Given the description of an element on the screen output the (x, y) to click on. 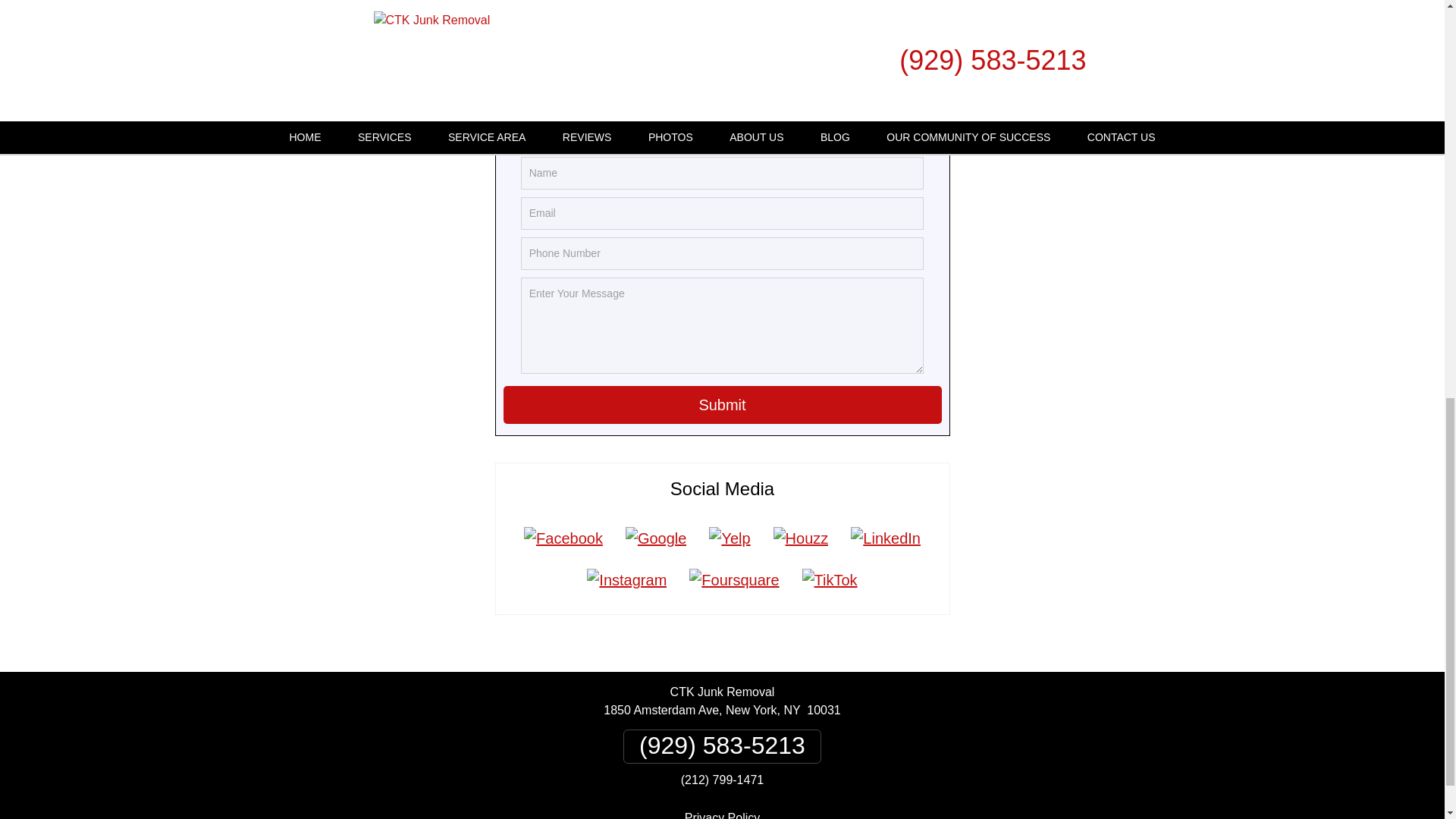
TikTok (829, 579)
Google (656, 538)
Woodhaven Hoarder Cleanup (487, 34)
Houzz (800, 538)
Yelp (729, 538)
Facebook (563, 538)
Foursquare (734, 579)
Submit (722, 404)
Instagram (626, 579)
LinkedIn (885, 538)
